Given the description of an element on the screen output the (x, y) to click on. 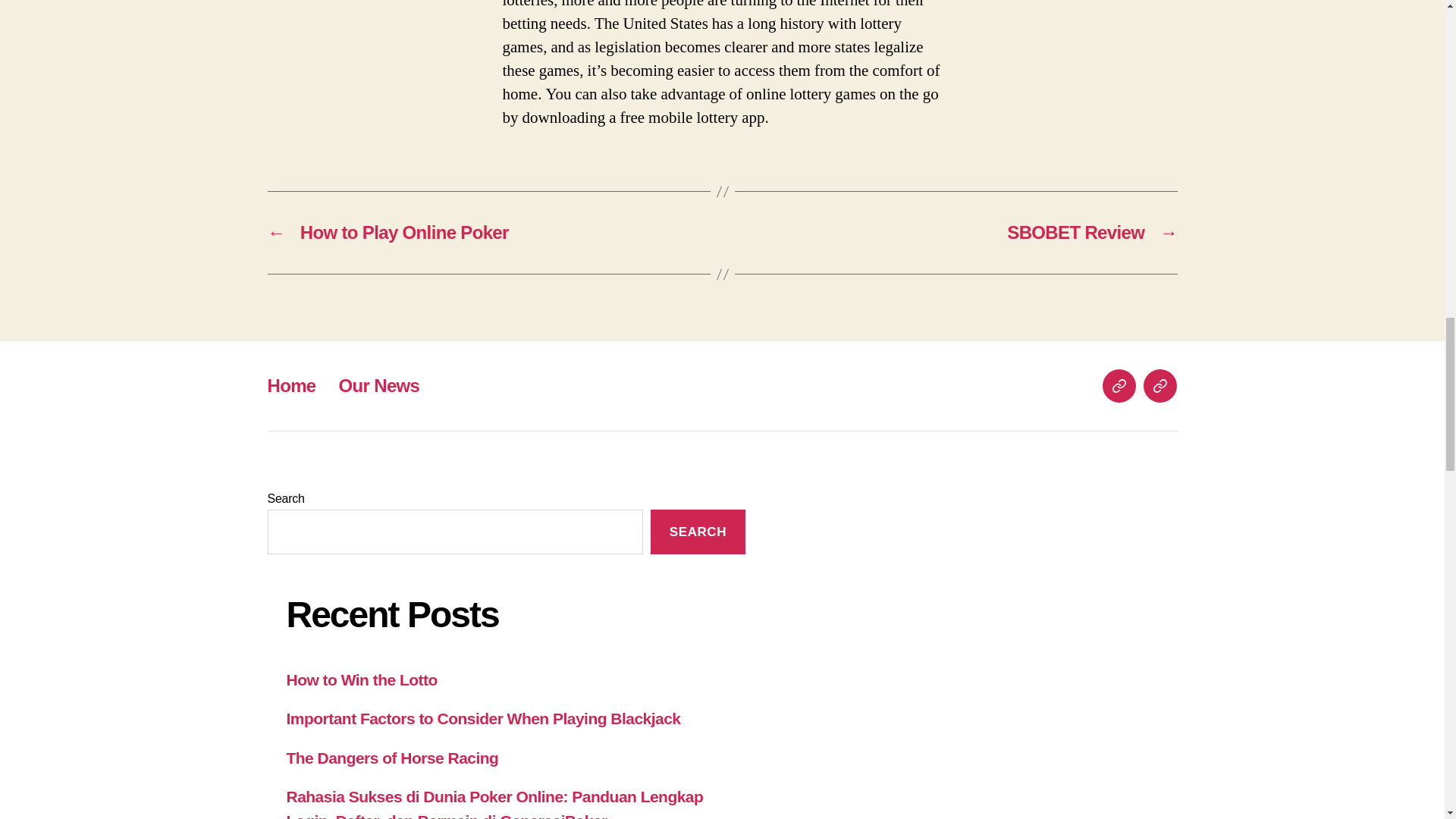
Our News (379, 385)
SEARCH (697, 531)
The Dangers of Horse Racing (392, 757)
Important Factors to Consider When Playing Blackjack (483, 718)
Home (1118, 385)
How to Win the Lotto (362, 679)
Home (290, 385)
Our News (1159, 385)
